Given the description of an element on the screen output the (x, y) to click on. 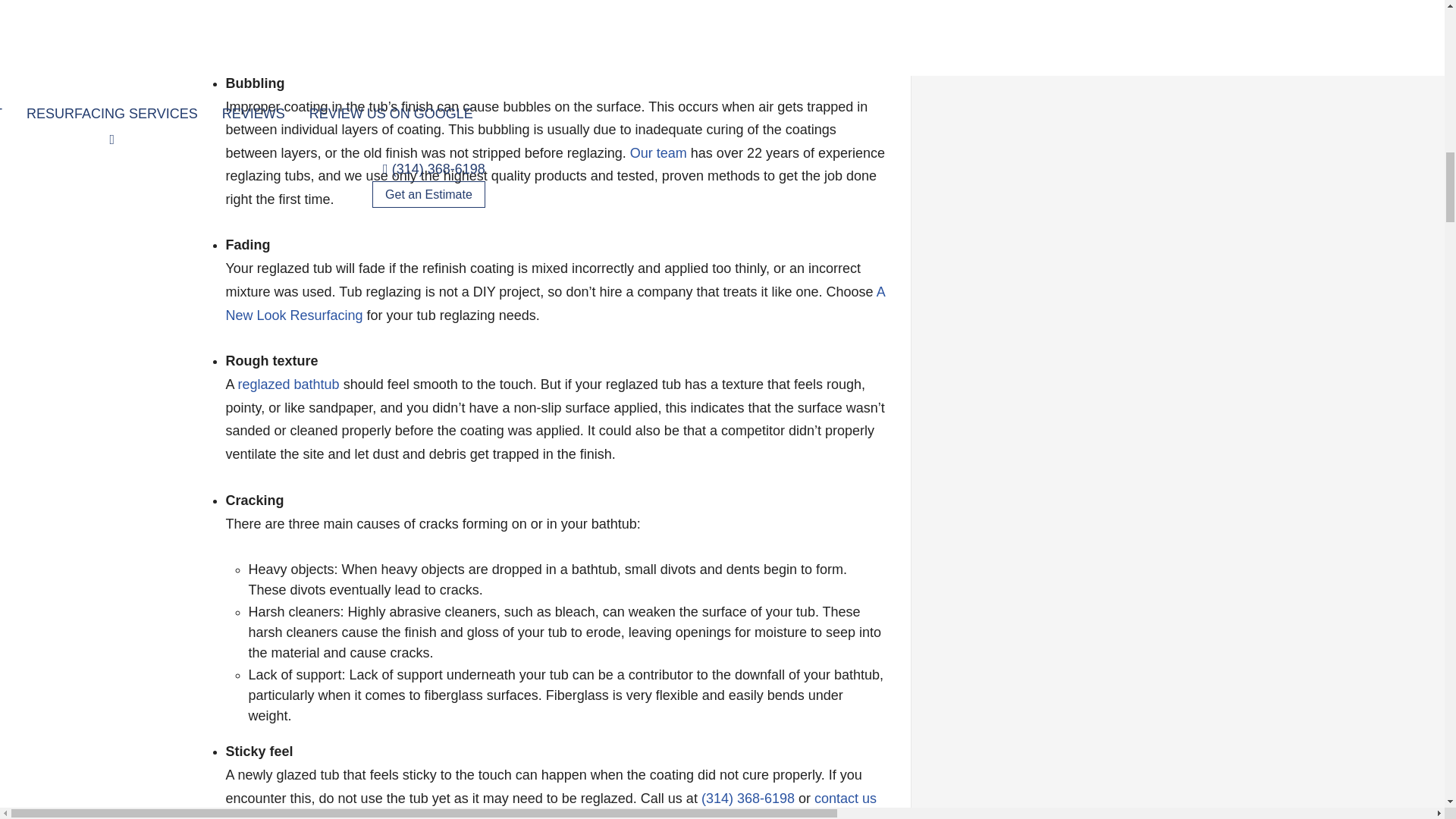
reglazed bathtub (288, 384)
contact us (844, 798)
Tub Reglazing St. Louis, MO - WikiPedia (288, 384)
A New Look Resurfacing (555, 303)
Our team (658, 152)
